Given the description of an element on the screen output the (x, y) to click on. 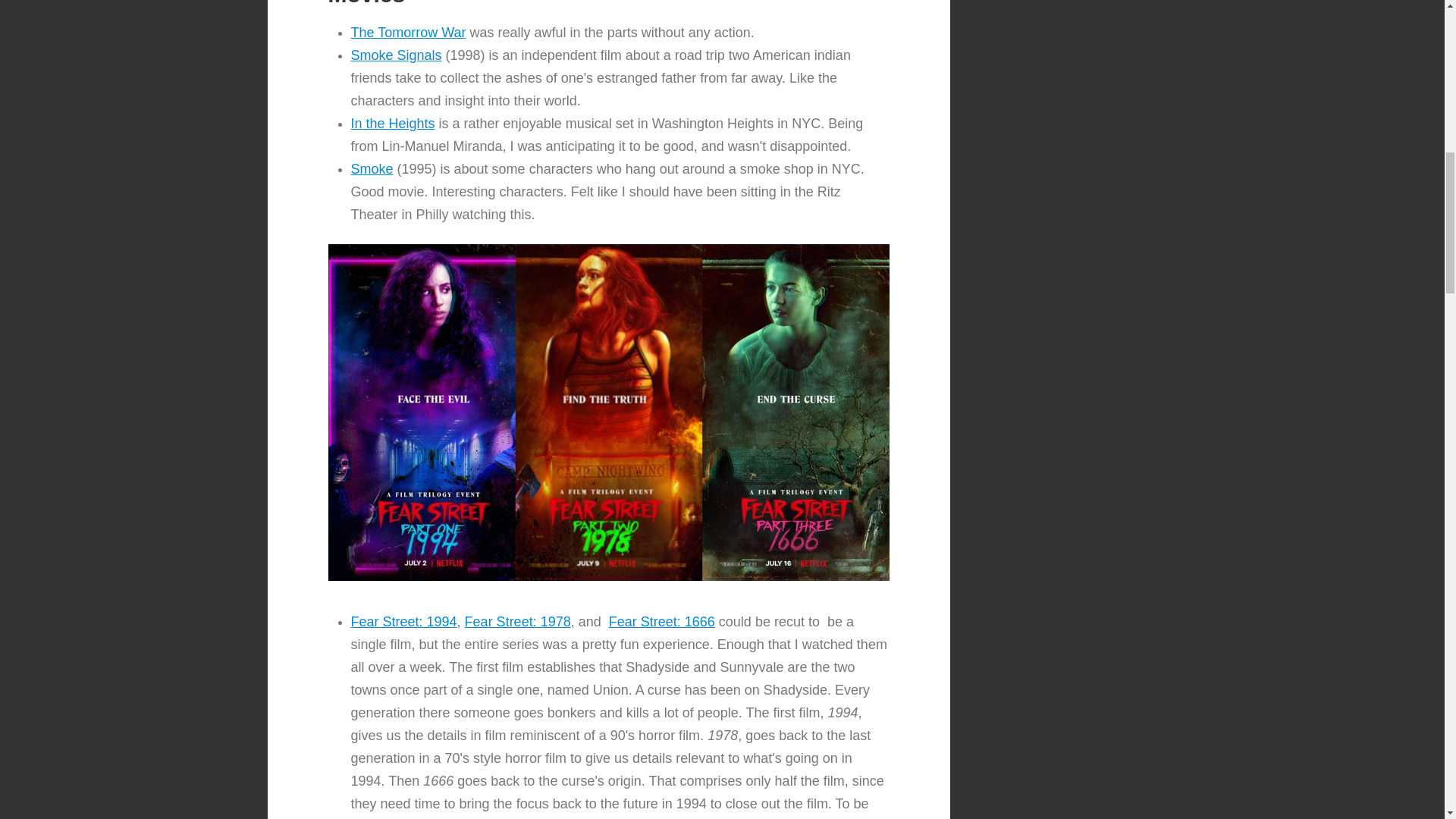
Smoke (371, 153)
Fear Street: 1666 (661, 607)
Fear Street: 1994 (403, 606)
Fear Street: 1978 (517, 607)
